Given the description of an element on the screen output the (x, y) to click on. 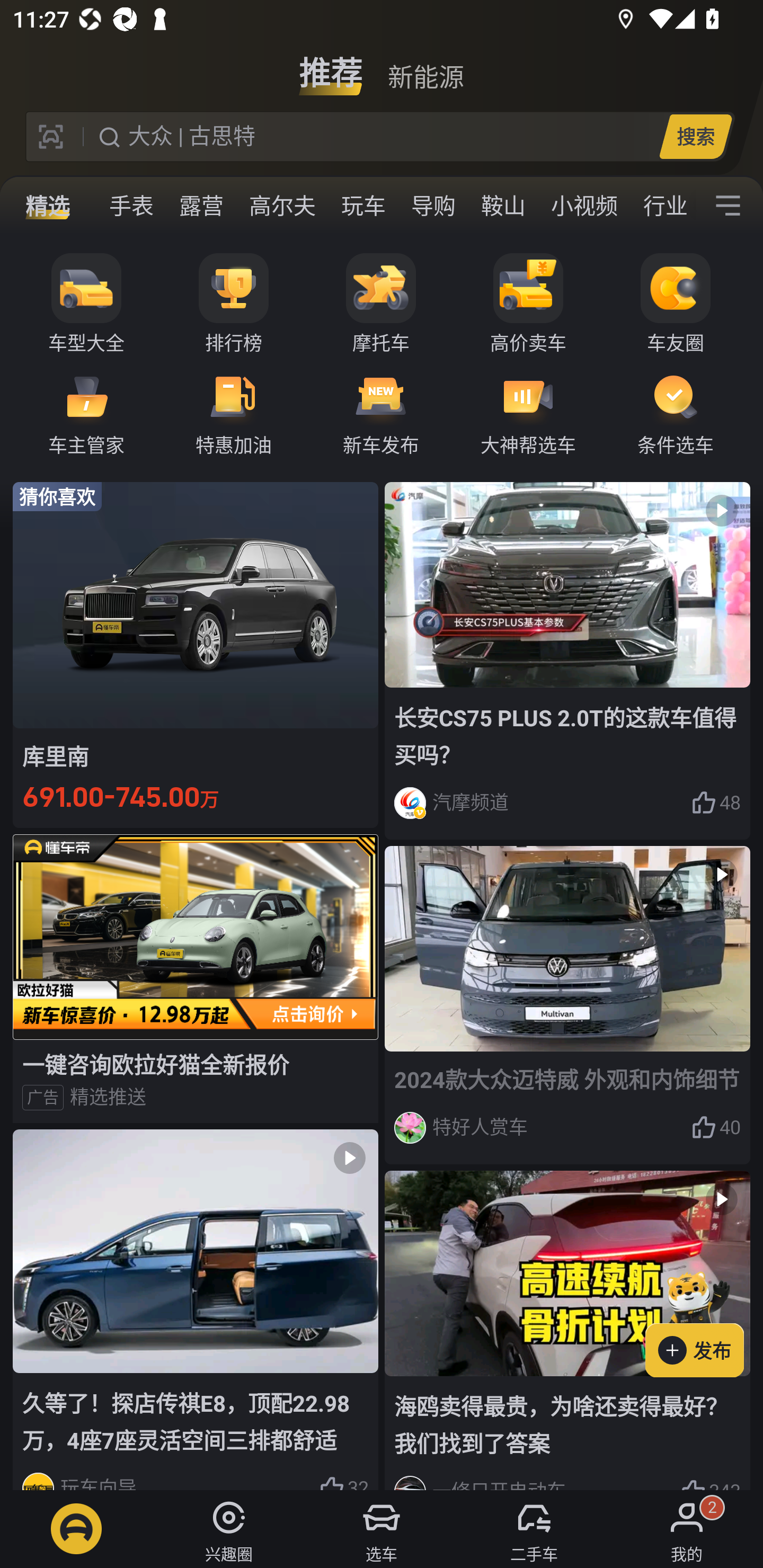
推荐 (330, 65)
新能源 (425, 65)
搜索 (695, 136)
原创 (61, 205)
手表 (131, 205)
露营 (201, 205)
高尔夫 (282, 205)
玩车 (363, 205)
导购 (433, 205)
鞍山 (503, 205)
小视频 (584, 205)
行业 (662, 205)
 (727, 205)
车型大全 (86, 303)
排行榜 (233, 303)
摩托车 (380, 303)
高价卖车 (528, 303)
车友圈 (675, 303)
车主管家 (86, 412)
特惠加油 (233, 412)
新车发布 (380, 412)
大神帮选车 (528, 412)
条件选车 (675, 412)
猜你喜欢 库里南 691.00-745.00万 (195, 654)
 长安CS75 PLUS 2.0T的这款车值得买吗？ 汽摩频道 48 (567, 659)
48 (715, 802)
一键咨询欧拉好猫全新报价 广告 精选推送 (195, 978)
 2024款大众迈特威 外观和内饰细节 特好人赏车 40 (567, 1005)
40 (715, 1126)
 久等了！探店传祺E8，顶配22.98万，4座7座灵活空间三排都舒适 玩车向导 32 (195, 1308)
 海鸥卖得最贵，为啥还卖得最好？我们找到了答案 一修只开电动车 343 (567, 1330)
发布 (704, 1320)
 兴趣圈 (228, 1528)
 选车 (381, 1528)
 二手车 (533, 1528)
 我的 (686, 1528)
